Given the description of an element on the screen output the (x, y) to click on. 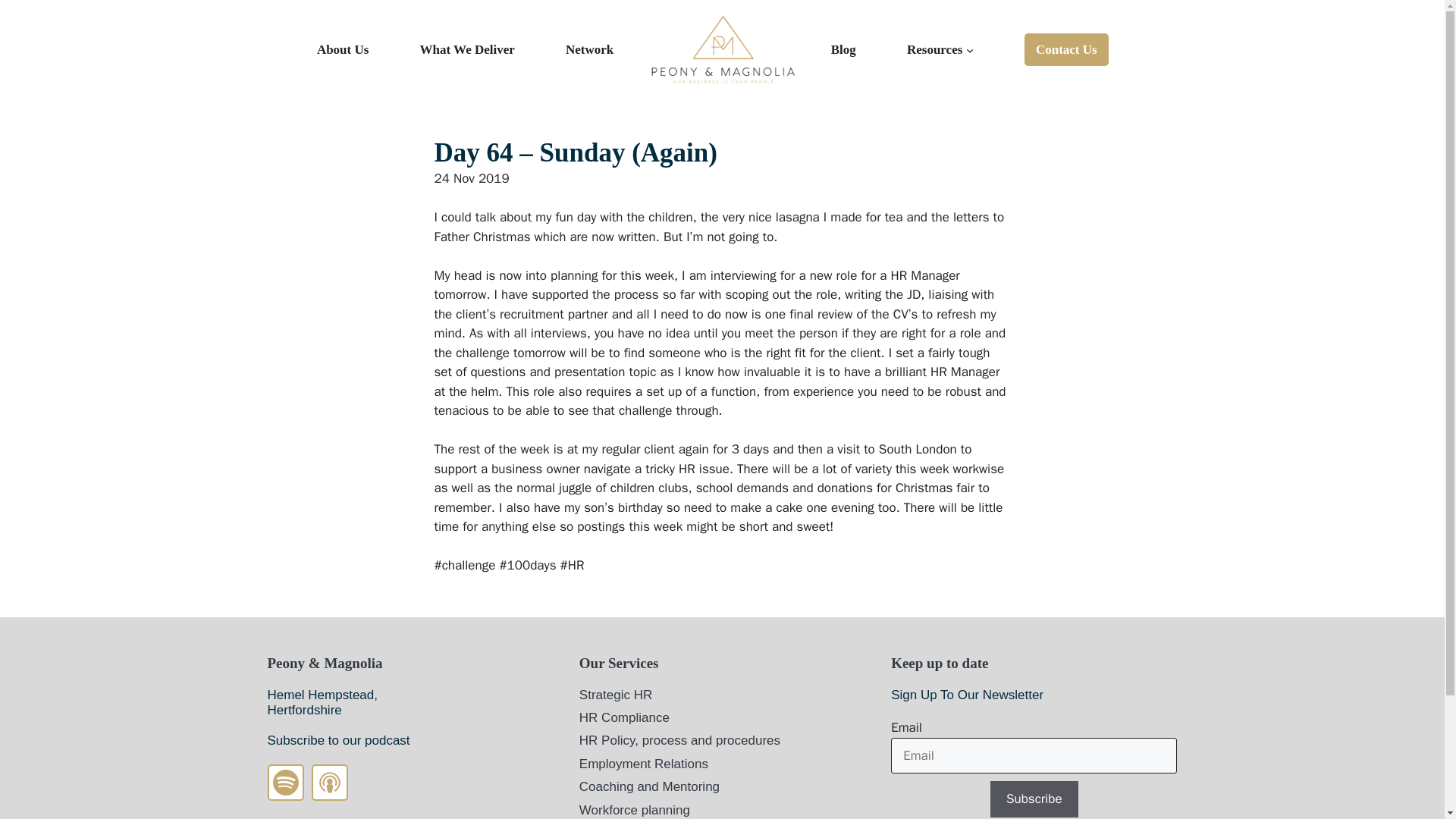
Contact Us (1066, 49)
Blog (843, 49)
Resources (934, 49)
What We Deliver (467, 49)
Network (589, 49)
Subscribe (1034, 799)
About Us (343, 49)
